Given the description of an element on the screen output the (x, y) to click on. 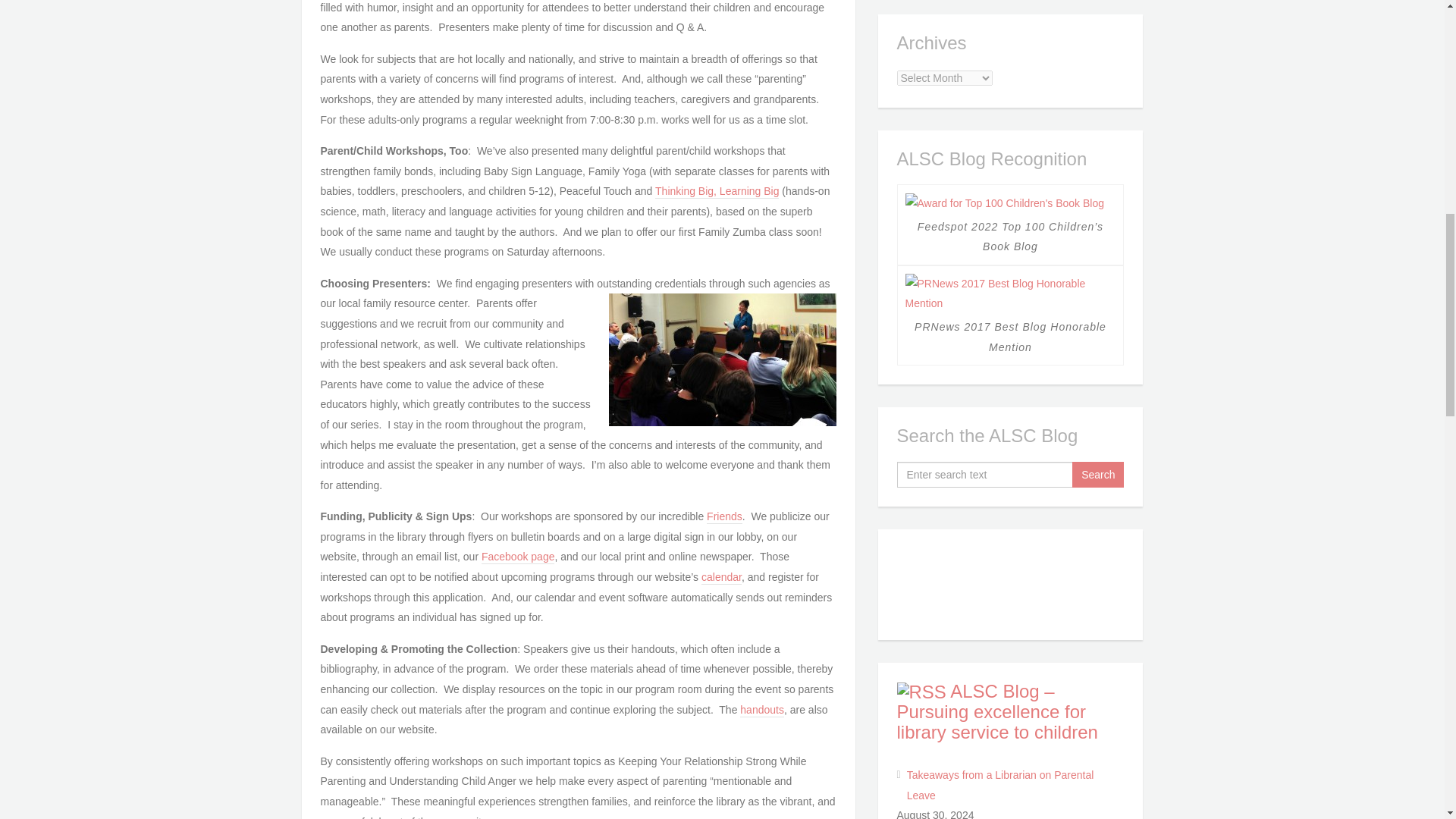
parents-closer (721, 359)
Thinking Big, Learning Big (716, 192)
Facebook page (517, 557)
Friends (724, 517)
handouts (761, 710)
Search (1097, 474)
calendar (721, 577)
